Given the description of an element on the screen output the (x, y) to click on. 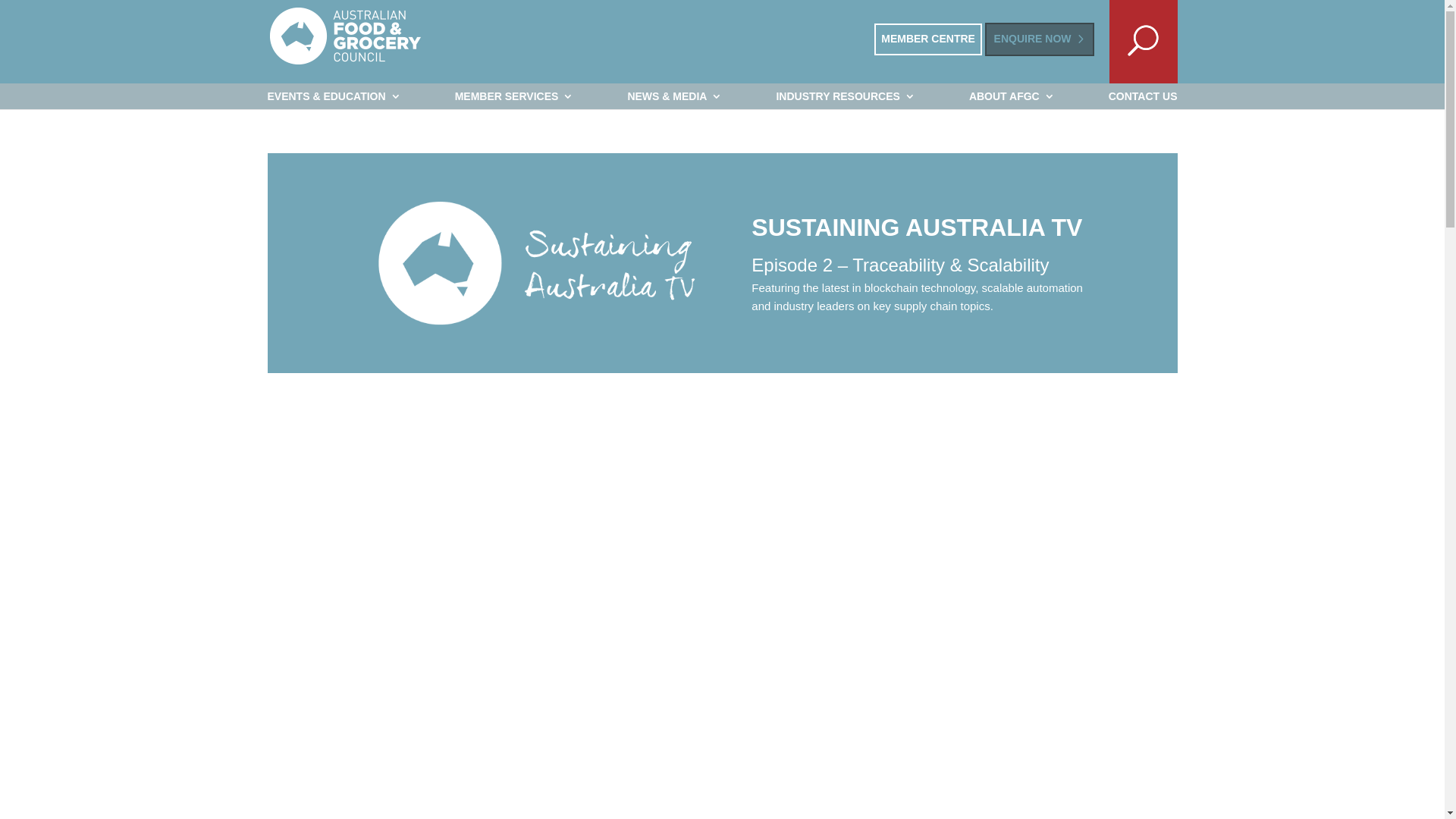
CONTACT US Element type: text (1142, 96)
EVENTS & EDUCATION Element type: text (333, 96)
MEMBER CENTRE Element type: text (928, 39)
ENQUIRE NOW Element type: text (1039, 39)
NEWS & MEDIA Element type: text (674, 96)
ABOUT AFGC Element type: text (1011, 96)
INDUSTRY RESOURCES Element type: text (844, 96)
MEMBER SERVICES Element type: text (514, 96)
